Given the description of an element on the screen output the (x, y) to click on. 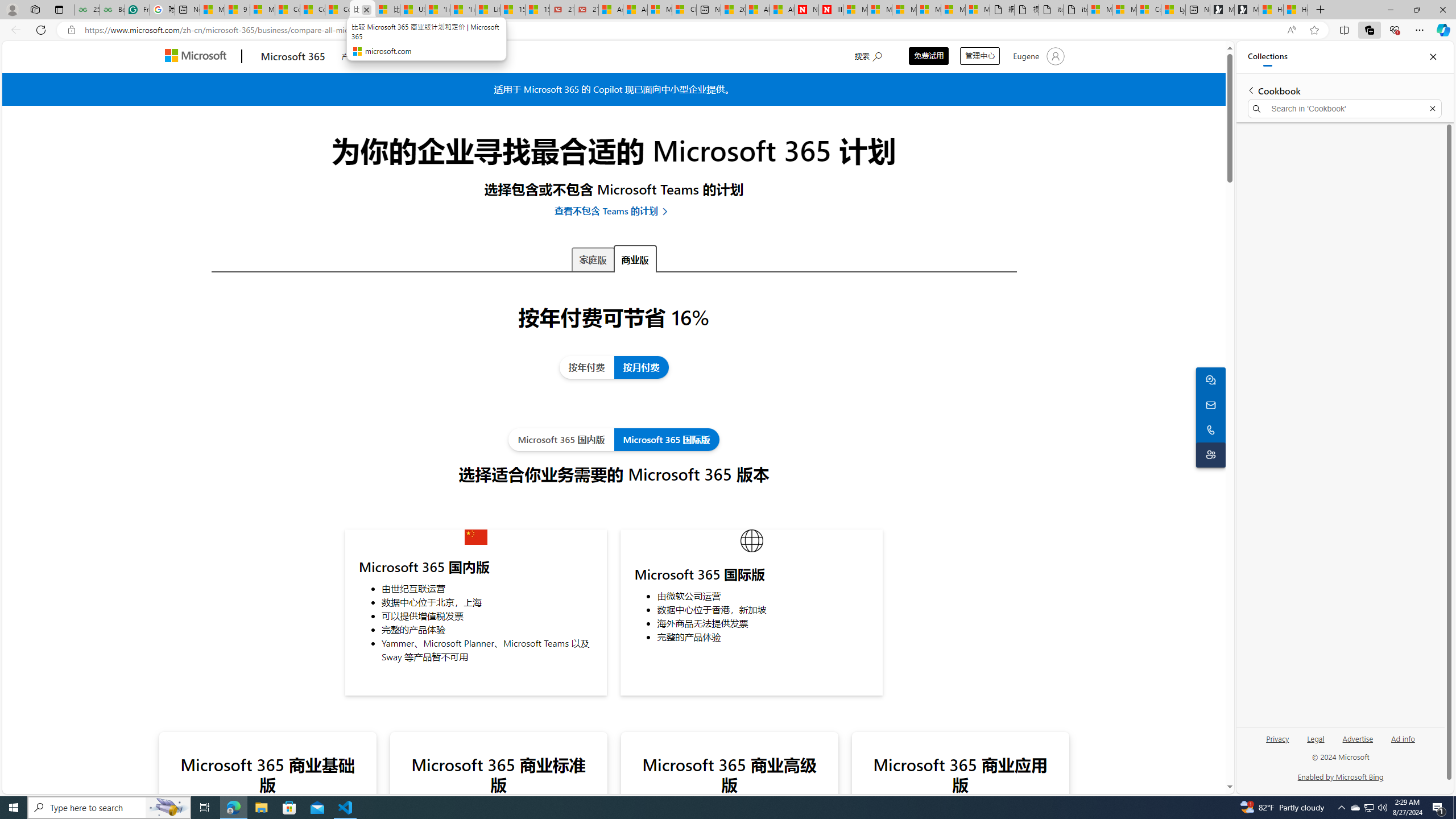
Exit search (1432, 108)
Illness news & latest pictures from Newsweek.com (830, 9)
